Given the description of an element on the screen output the (x, y) to click on. 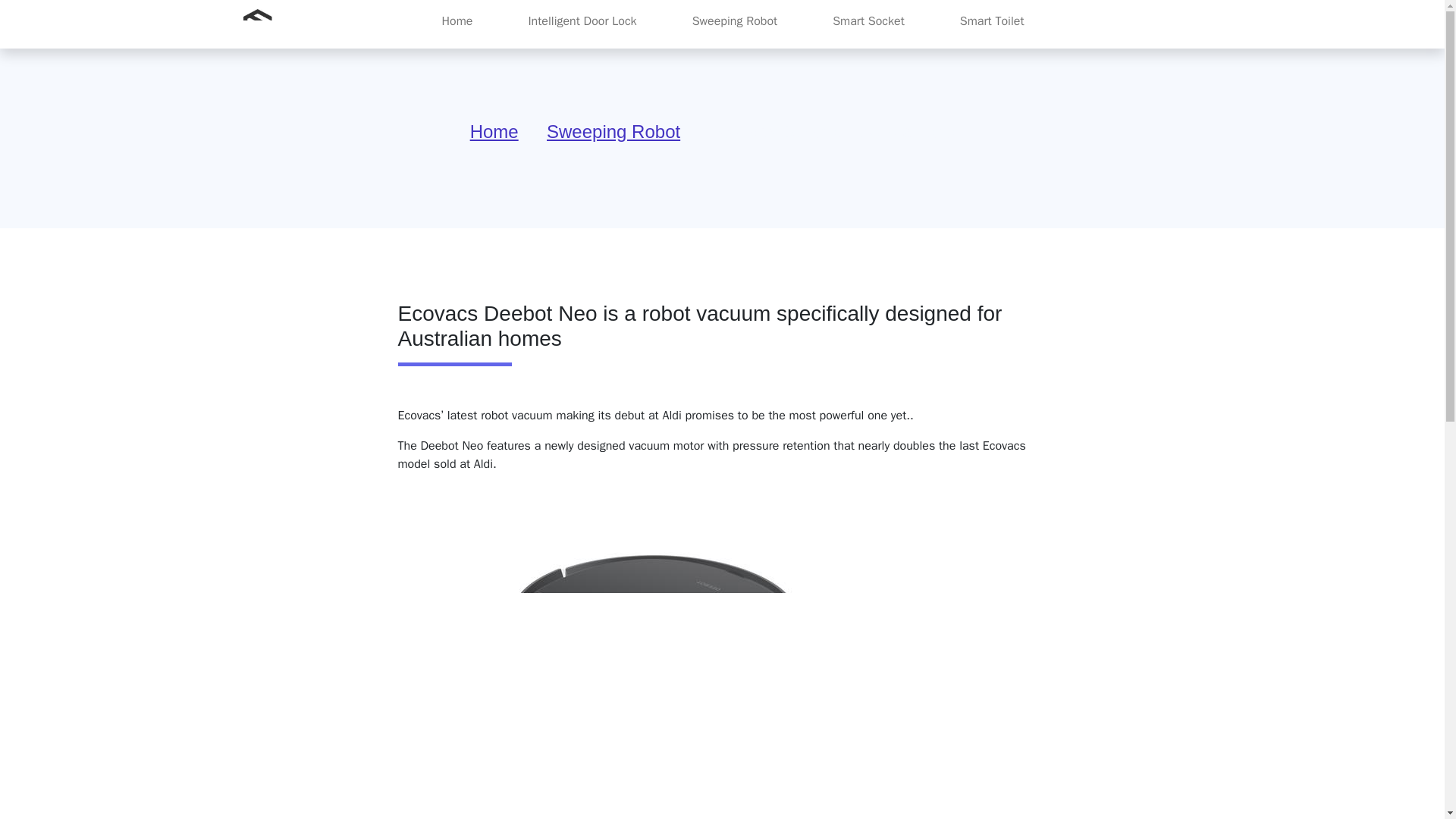
Smart Socket (869, 20)
Smart Socket (869, 20)
smarthomeonline (299, 24)
Home (456, 20)
Smart Toilet (991, 20)
Sweeping Robot (734, 20)
Smart Toilet (991, 20)
Home (494, 131)
Intelligent Door Lock (581, 20)
